Given the description of an element on the screen output the (x, y) to click on. 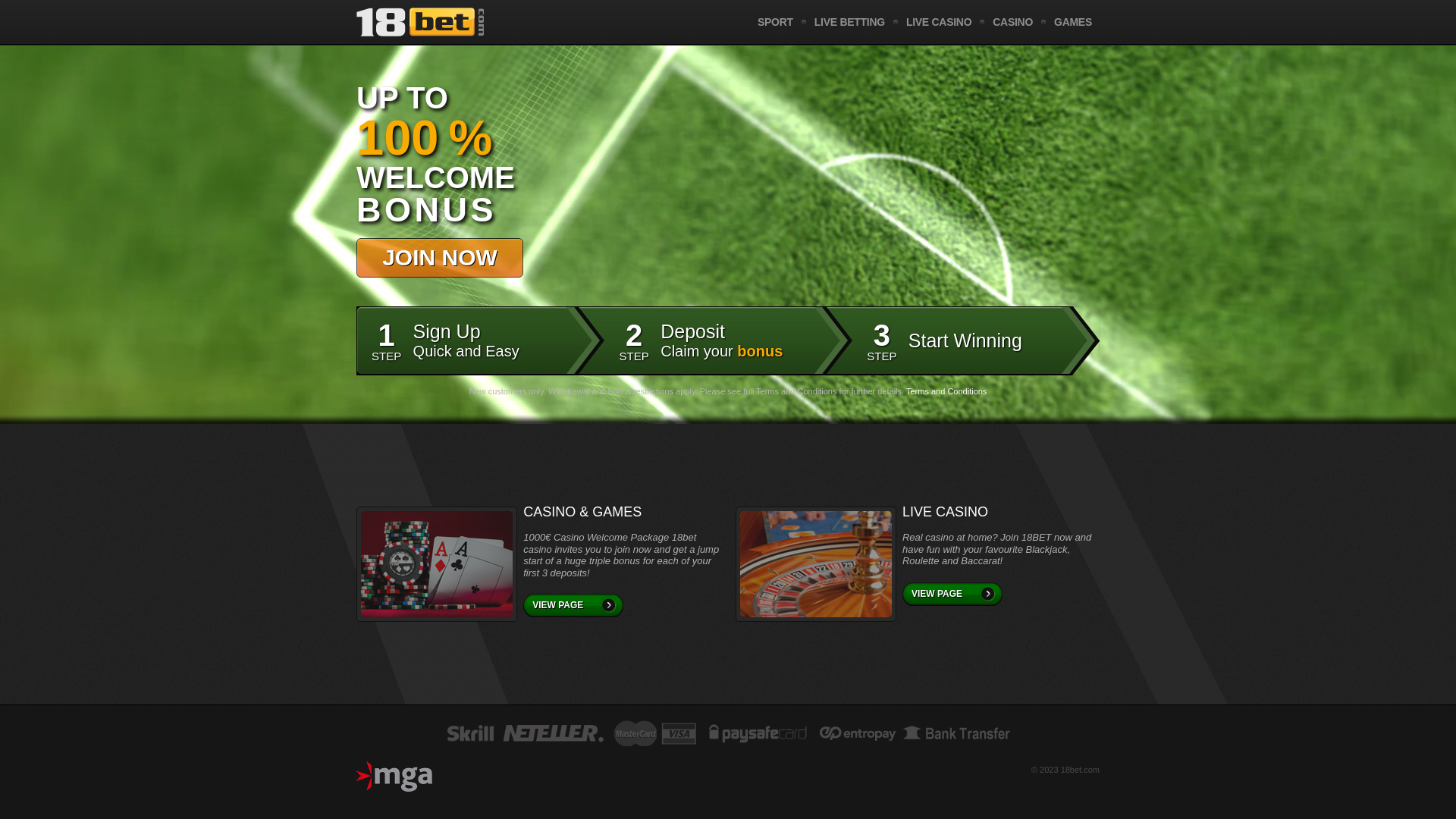
LIVE CASINO Element type: text (938, 21)
VIEW PAGE Element type: text (573, 605)
1 STEP Sign Up
Quick and Easy Element type: text (480, 340)
CASINO & GAMES Element type: text (621, 512)
VIEW PAGE Element type: text (952, 593)
LIVE BETTING Element type: text (849, 21)
2 STEP Deposit
Claim your bonus Element type: text (727, 340)
SPORT Element type: text (775, 21)
CASINO Element type: text (1012, 21)
LIVE CASINO Element type: text (1000, 512)
3 STEP Start Winning Element type: text (975, 340)
GAMES Element type: text (1073, 21)
JOIN NOW Element type: text (439, 258)
Terms and Conditions Element type: text (946, 390)
